Given the description of an element on the screen output the (x, y) to click on. 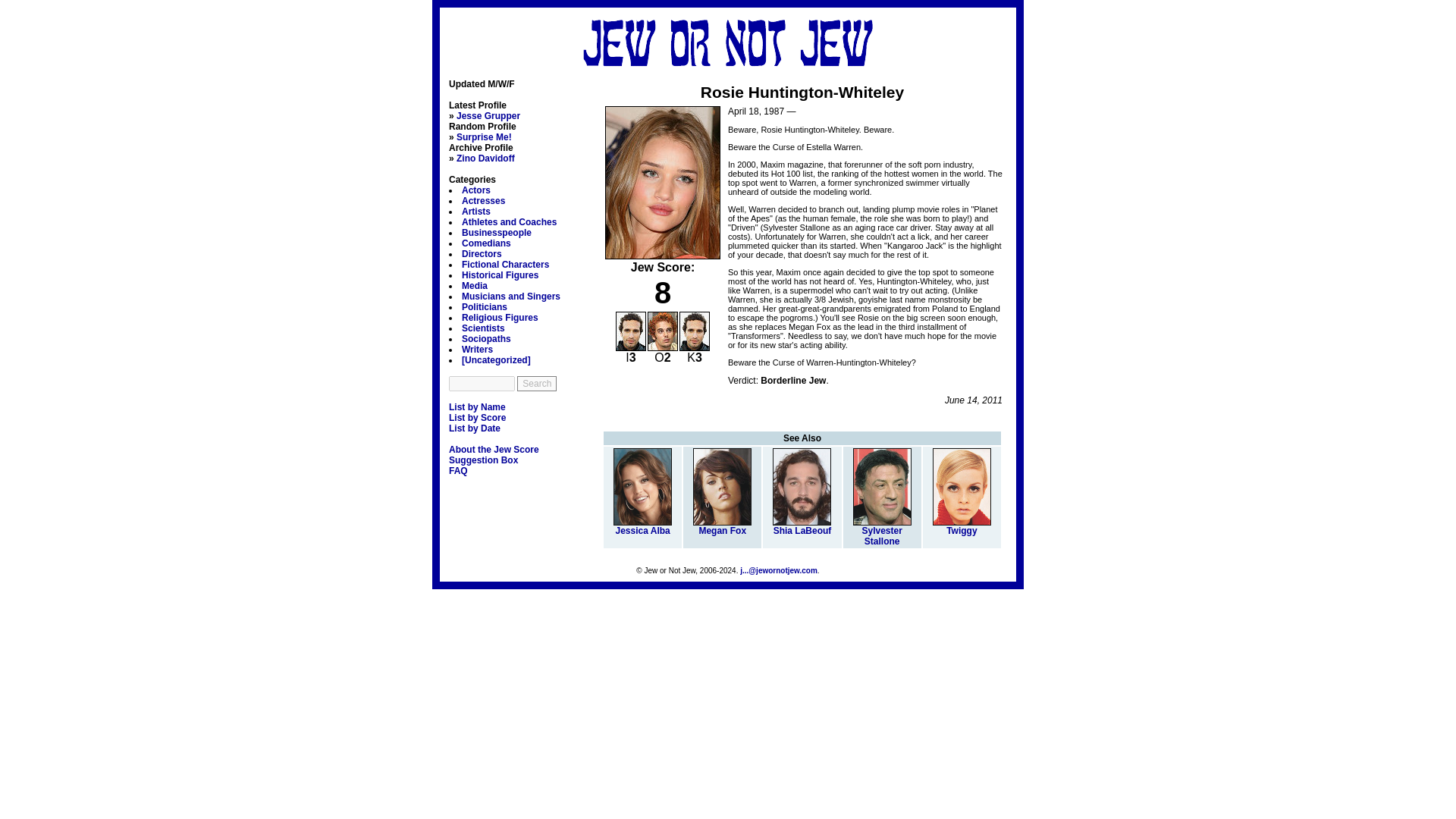
List by Name (476, 407)
Fictional Characters (504, 264)
Directors (481, 253)
Megan Fox (722, 526)
FAQ (457, 470)
Writers (477, 348)
Comedians (486, 243)
List by Score (476, 417)
Surprise Me! (484, 136)
Twiggy (962, 526)
